Given the description of an element on the screen output the (x, y) to click on. 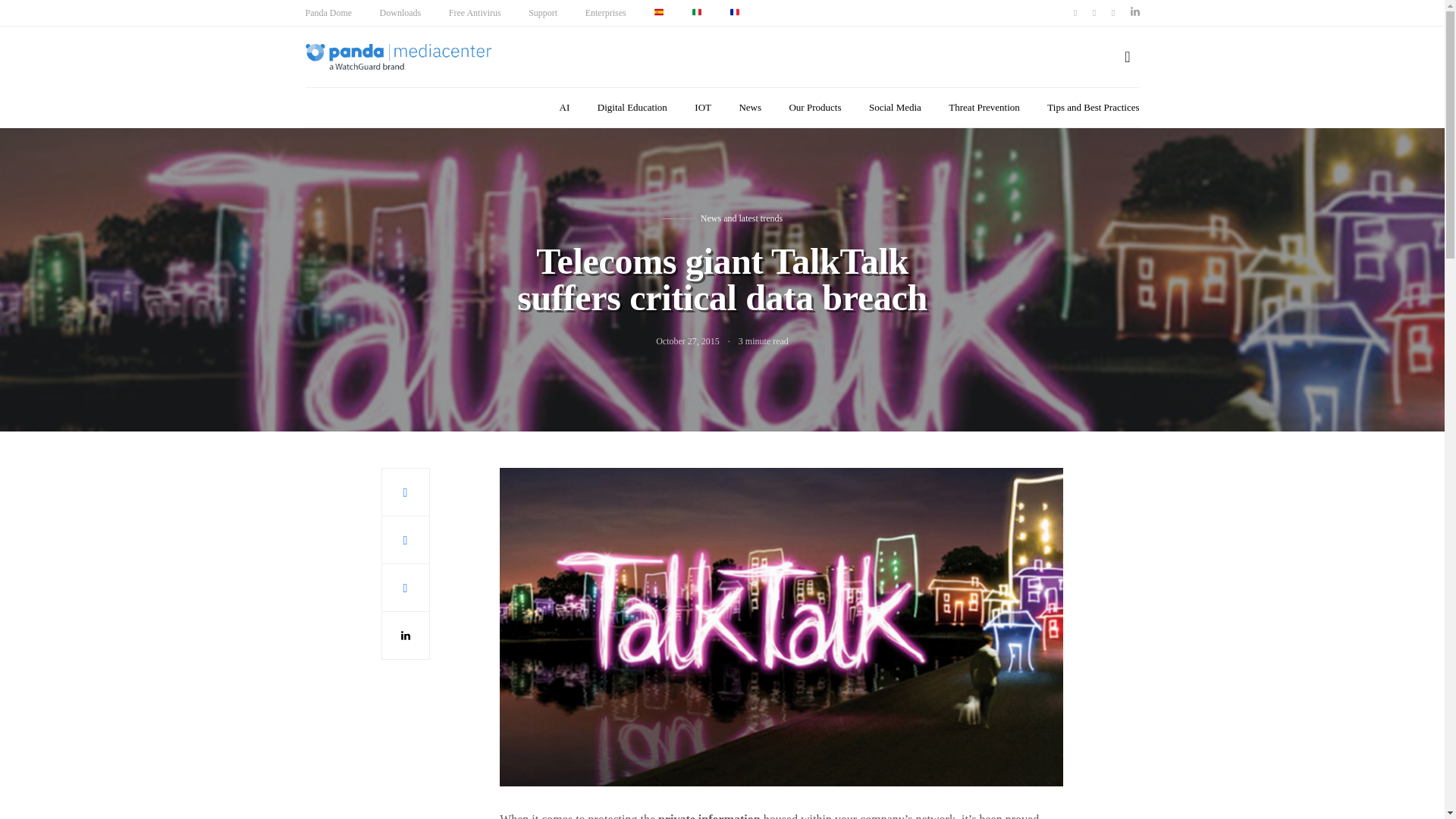
News and latest trends (741, 217)
Free Antivirus (474, 12)
Support (542, 12)
Our Products (815, 107)
Downloads (401, 12)
Tips and Best Practices (1092, 107)
Social Media (895, 107)
Enterprises (605, 12)
Panda Dome (328, 12)
Digital Education (631, 107)
